Given the description of an element on the screen output the (x, y) to click on. 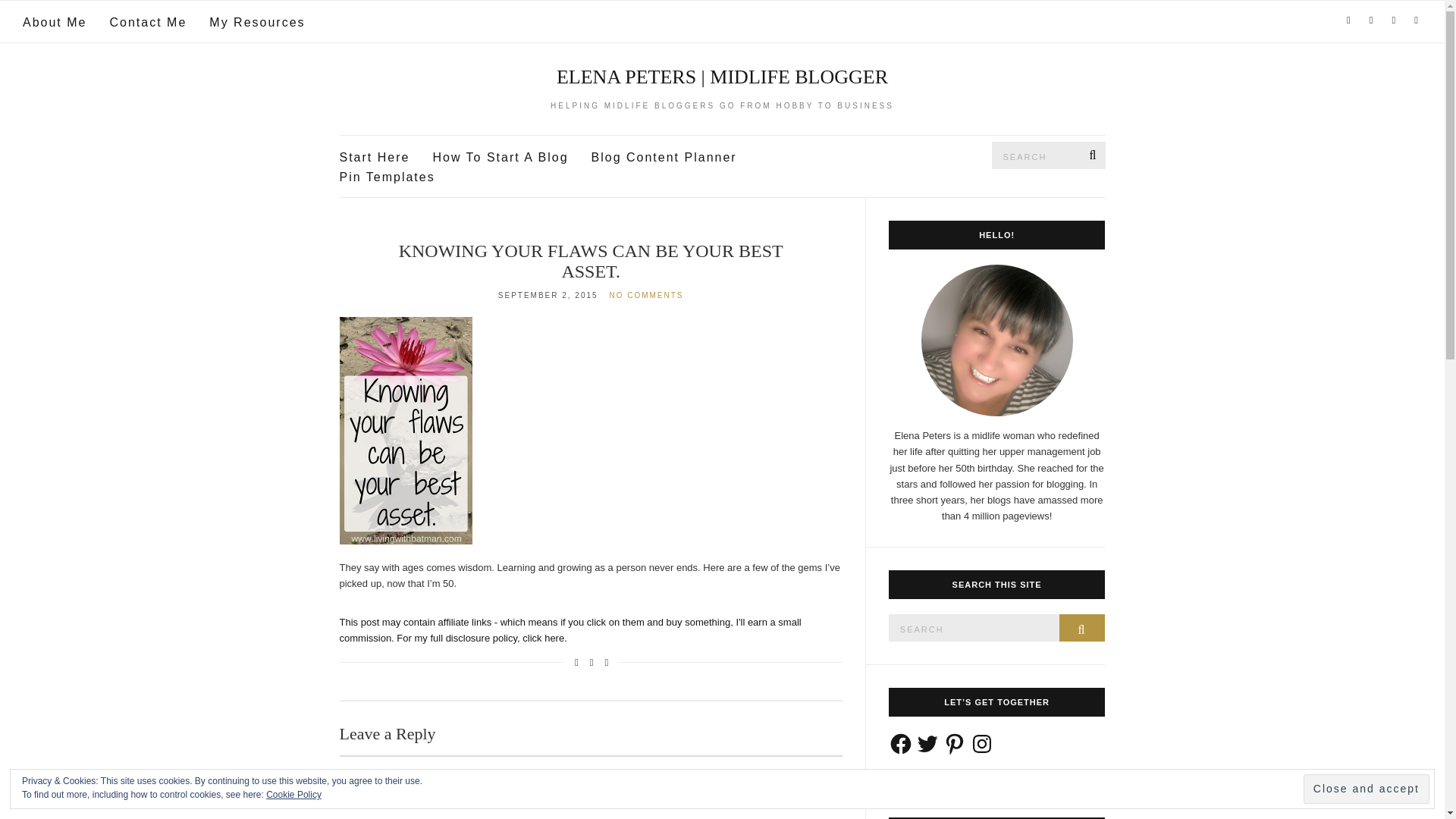
Pin Templates (387, 177)
About Me (54, 22)
My Resources (256, 22)
Start Here (374, 157)
Blog Content Planner (663, 157)
Pinterest (954, 743)
How To Start A Blog (499, 157)
Contact Me (147, 22)
SEARCH (1082, 627)
